Given the description of an element on the screen output the (x, y) to click on. 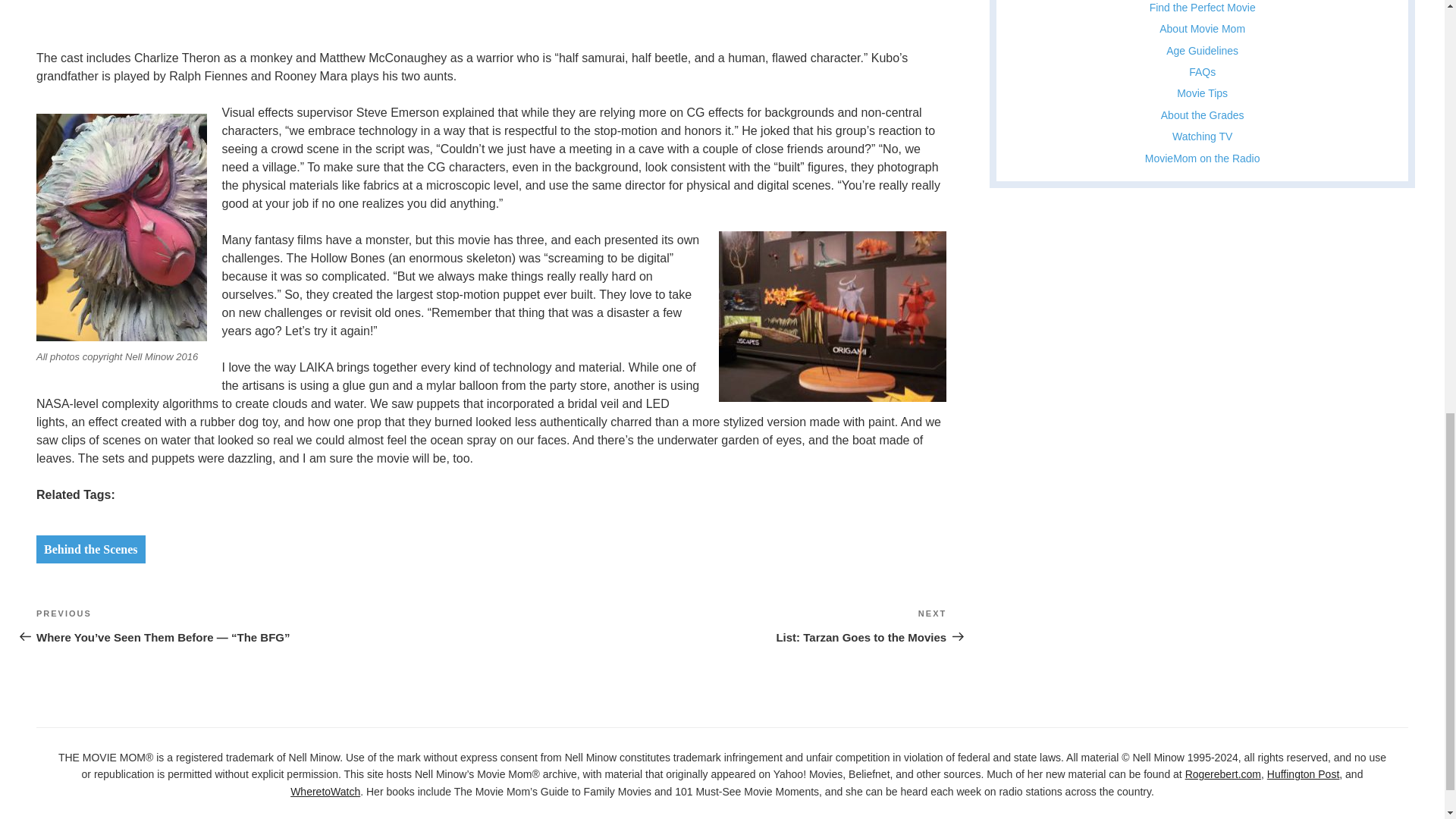
Rogerebert.com (1222, 774)
About the Grades (719, 625)
Huffington Post (1202, 114)
Watching TV (1302, 774)
About Movie Mom (1201, 136)
WheretoWatch (1201, 28)
Find the Perfect Movie (324, 791)
FAQs (1202, 7)
MovieMom on the Radio (1202, 71)
Age Guidelines (1202, 158)
Behind the Scenes (1202, 50)
YouTube player (90, 549)
Movie Tips (234, 3)
